Given the description of an element on the screen output the (x, y) to click on. 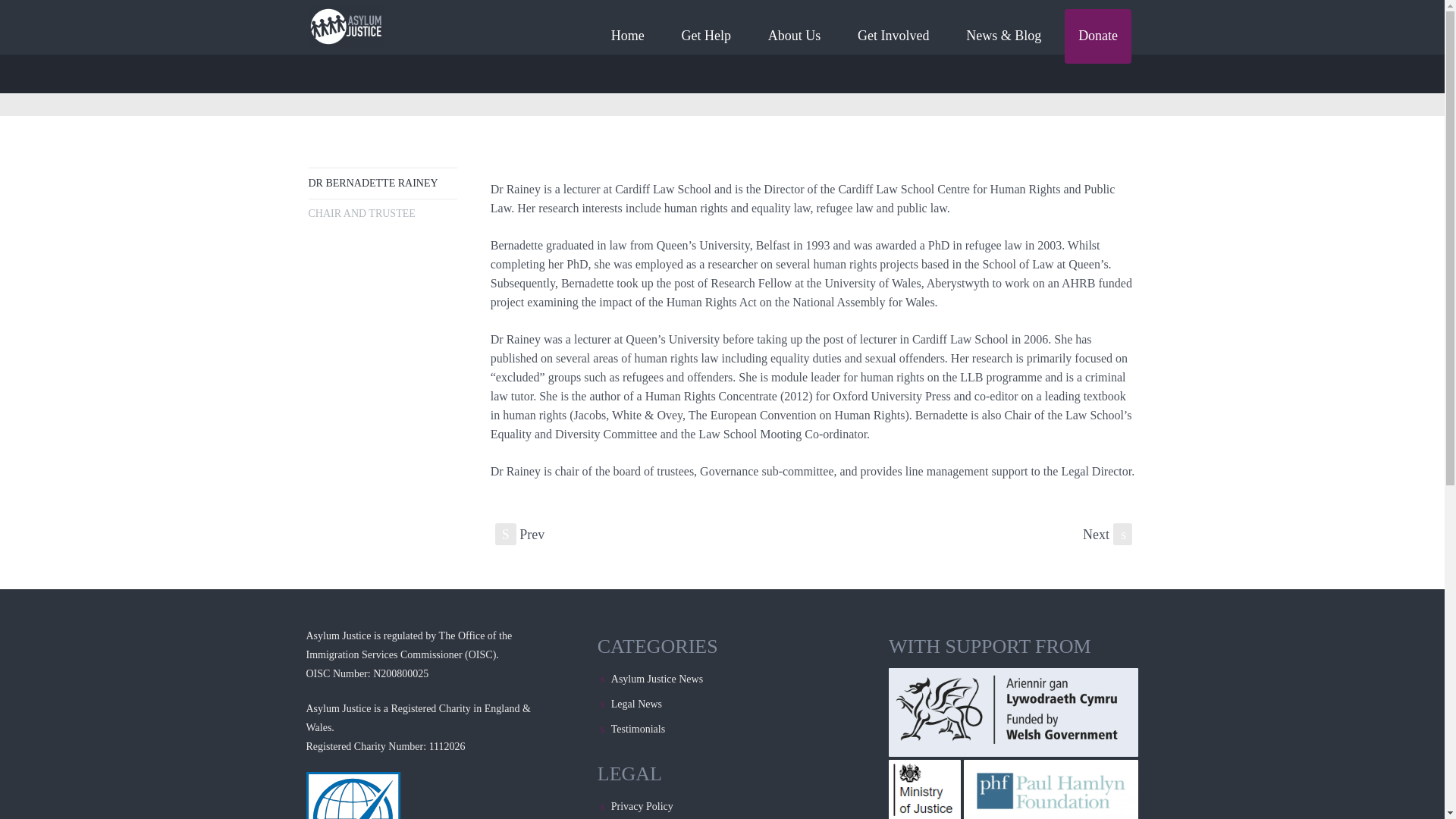
Next s (1107, 534)
Get Help (706, 36)
Privacy Policy (641, 806)
Testimonials (638, 728)
Asylum Justice News (657, 678)
S Prev (519, 534)
Legal News (636, 704)
Get Involved (893, 36)
Donate (1097, 36)
About Us (794, 36)
